Given the description of an element on the screen output the (x, y) to click on. 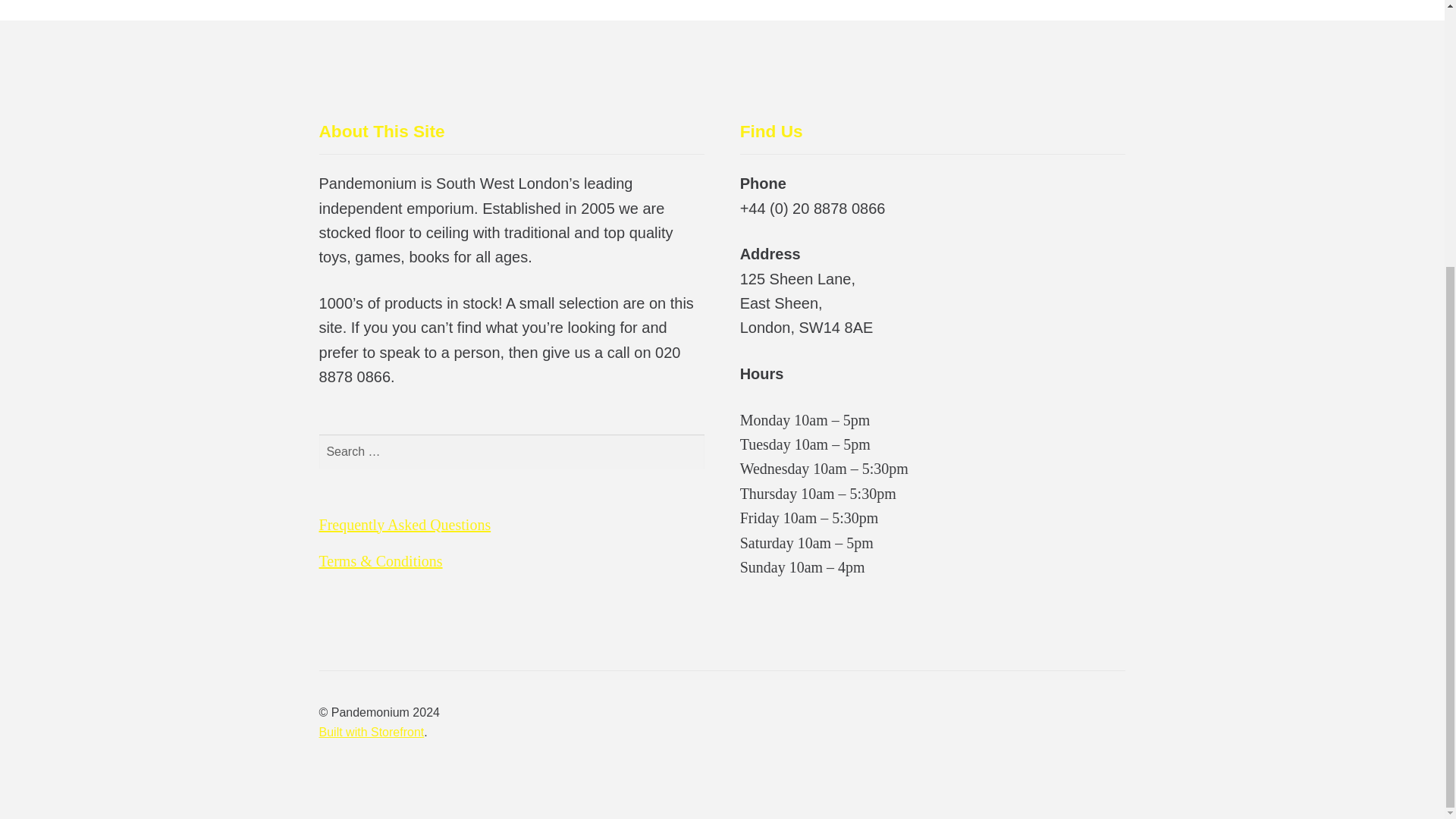
Built with Storefront (371, 731)
Frequently Asked Questions (405, 524)
